Given the description of an element on the screen output the (x, y) to click on. 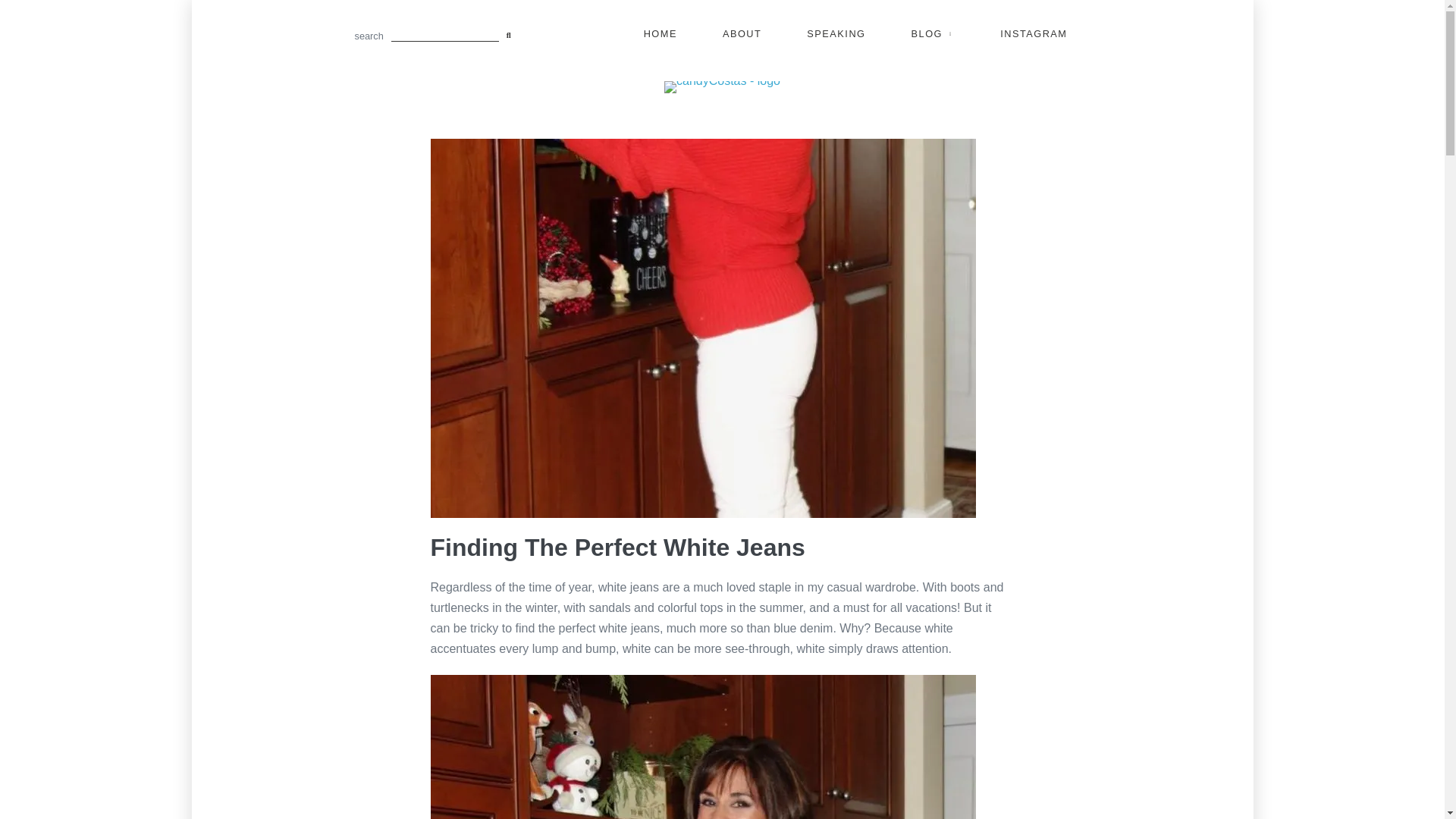
INSTAGRAM (1033, 34)
ABOUT (741, 34)
instagram-icon (1033, 34)
SPEAKING (835, 34)
HOME (660, 34)
candyCostas - logo (721, 87)
BLOG (933, 34)
